Given the description of an element on the screen output the (x, y) to click on. 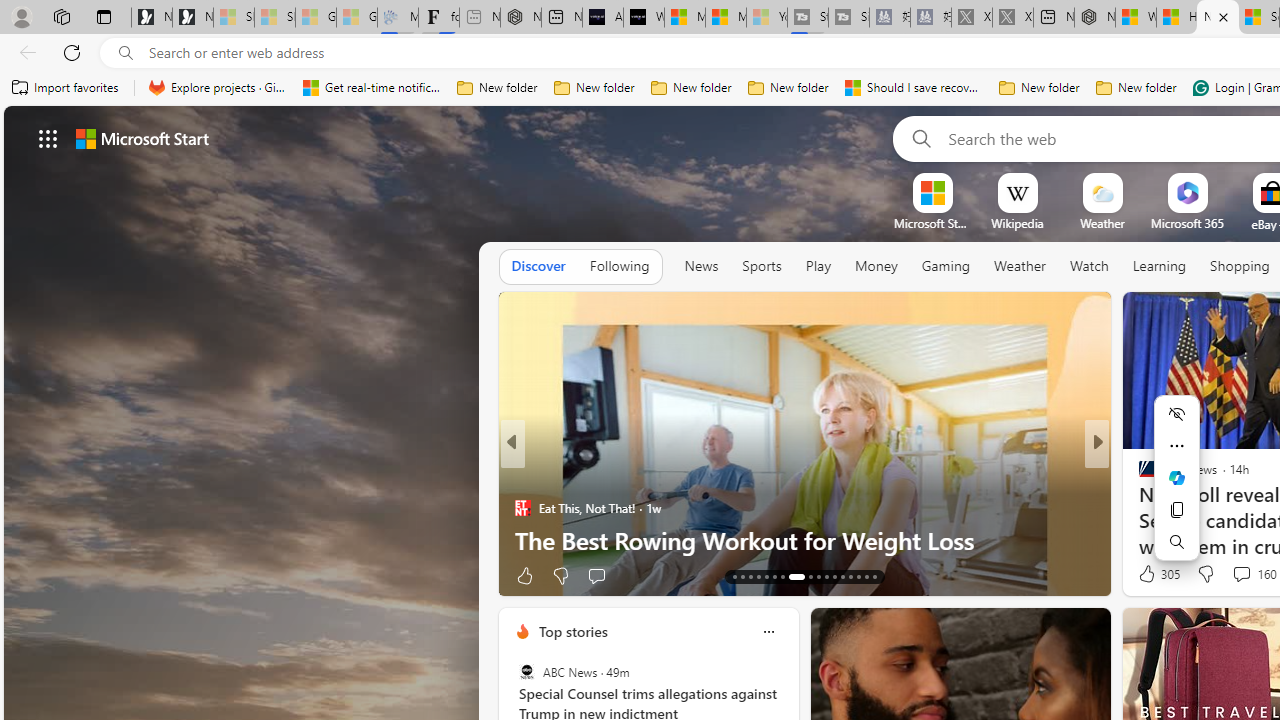
Microsoft 365 (1186, 223)
AutomationID: tab-40 (850, 576)
Start the conversation (1234, 575)
Gaming (945, 265)
View comments 61 Comment (11, 575)
AutomationID: tab-17 (765, 576)
Microsoft Start (726, 17)
More actions (1176, 445)
View comments 107 Comment (1234, 575)
Search (1176, 542)
Hide menu (1176, 413)
AutomationID: tab-16 (757, 576)
Class: control (47, 138)
